Given the description of an element on the screen output the (x, y) to click on. 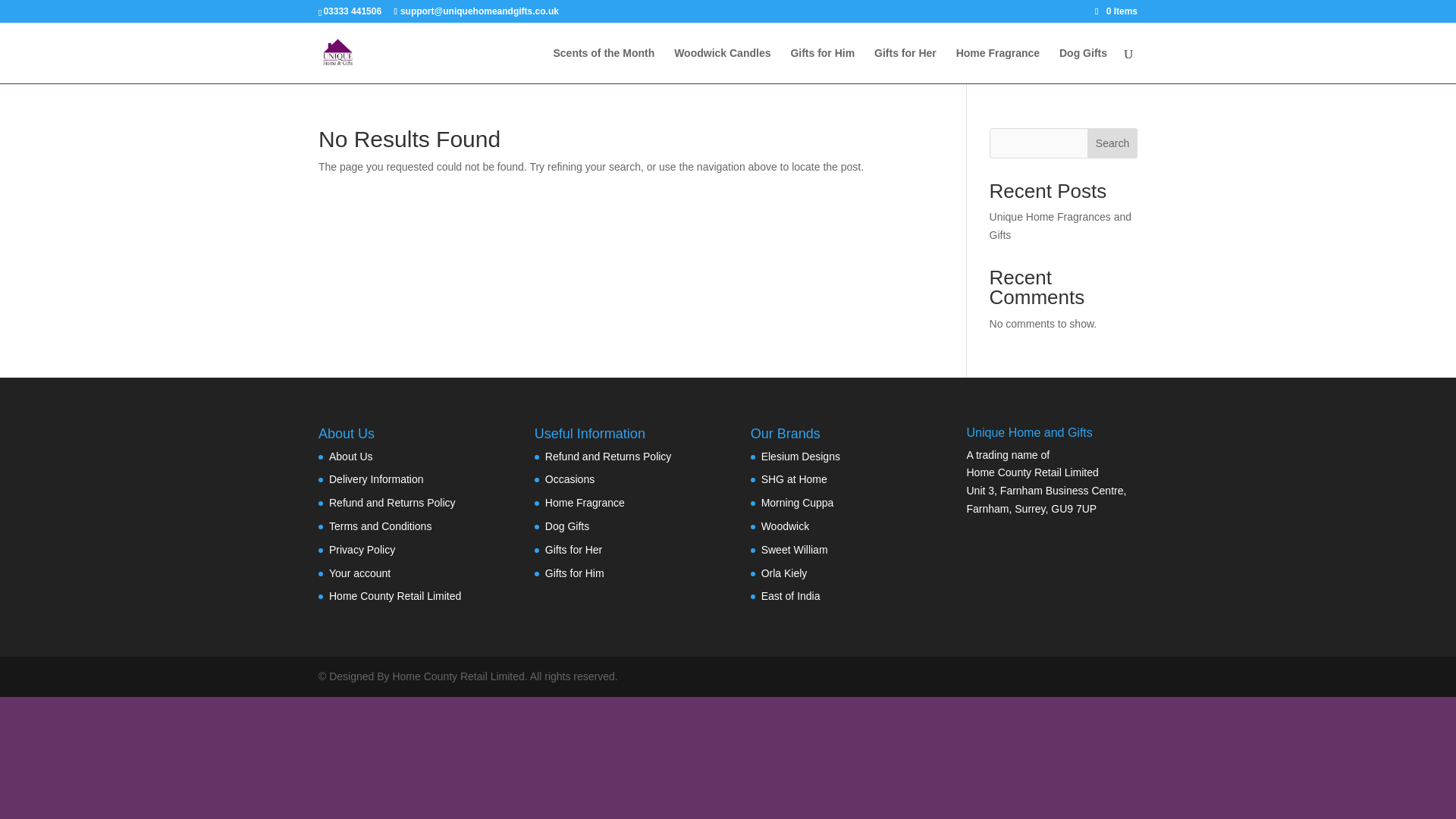
0 Items (1115, 10)
Home Fragrance (997, 65)
Gifts for Him (822, 65)
Occasions (569, 479)
Morning Cuppa (797, 502)
SHG at Home (794, 479)
Delivery Information (376, 479)
Woodwick Candles (722, 65)
Privacy Policy (361, 549)
Unique Home Fragrances and Gifts (1061, 225)
